Given the description of an element on the screen output the (x, y) to click on. 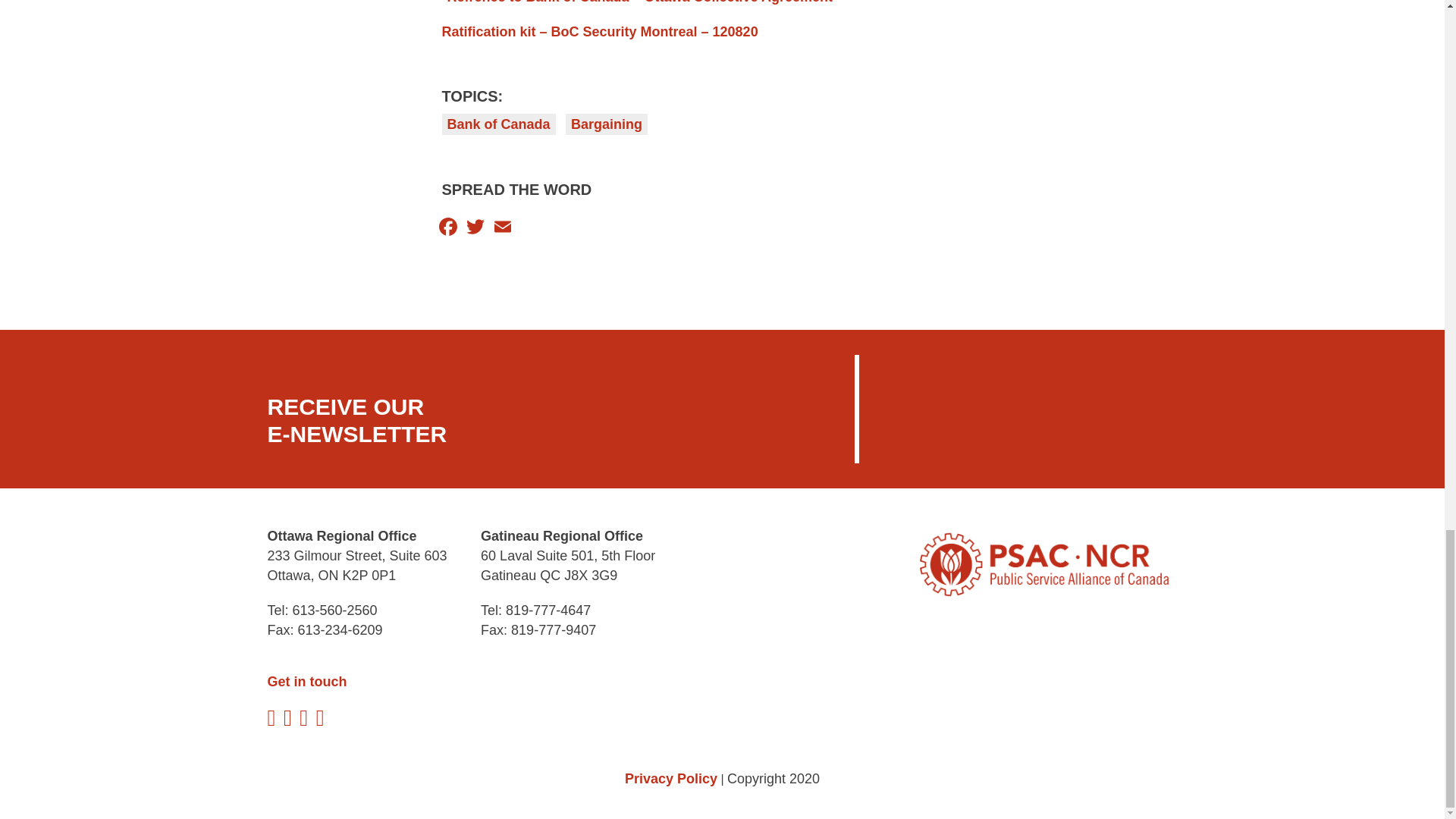
Facebook (447, 226)
Email (501, 226)
Twitter (474, 226)
Bank of Canada (497, 124)
Bargaining (606, 124)
